Given the description of an element on the screen output the (x, y) to click on. 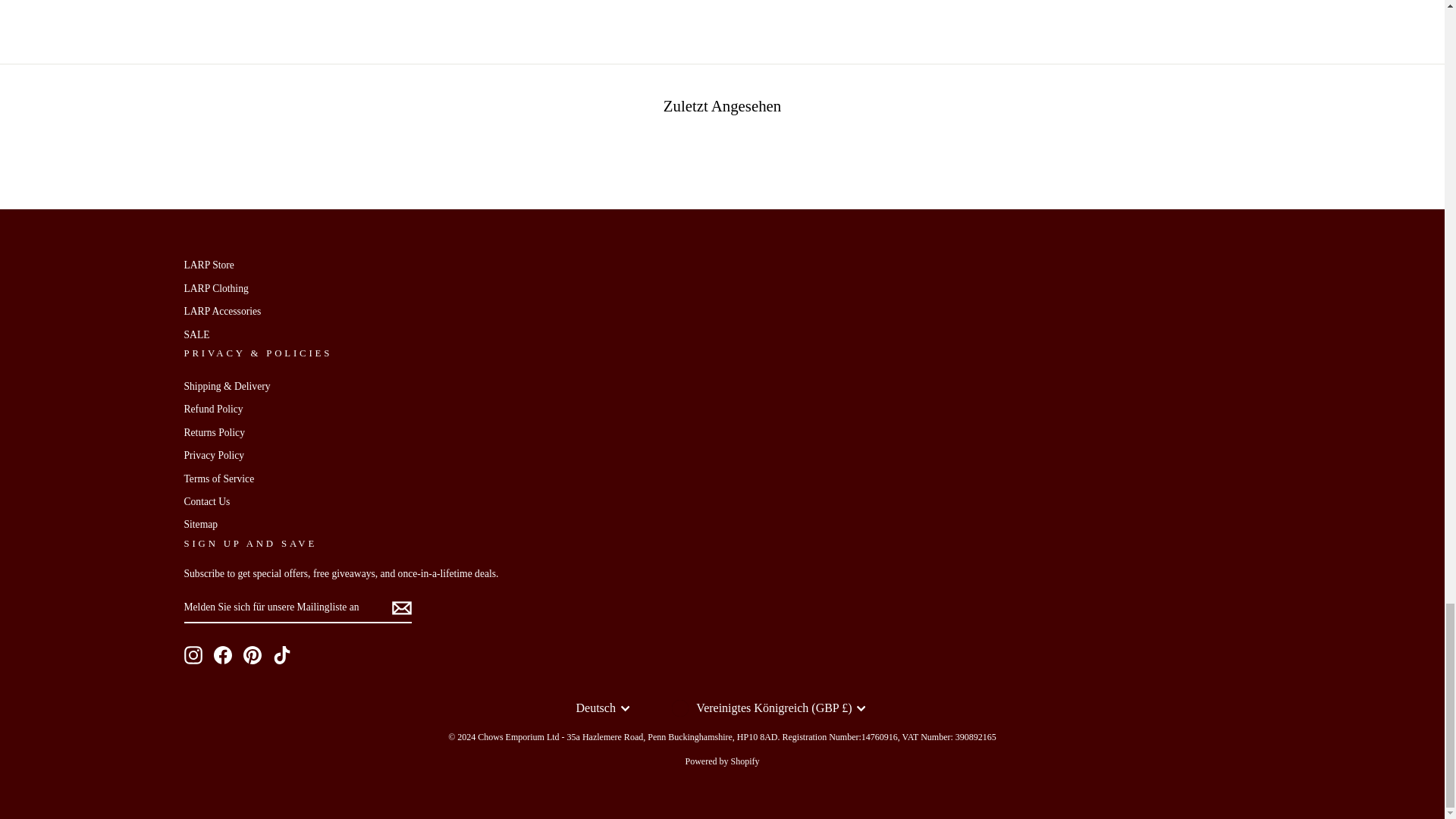
instagram (192, 655)
Chows Emporium Ltd auf Instagram (192, 655)
Chows Emporium Ltd auf Pinterest (251, 655)
Chows Emporium Ltd auf Facebook (222, 655)
icon-email (400, 607)
Chows Emporium Ltd auf TikTok (282, 655)
